Given the description of an element on the screen output the (x, y) to click on. 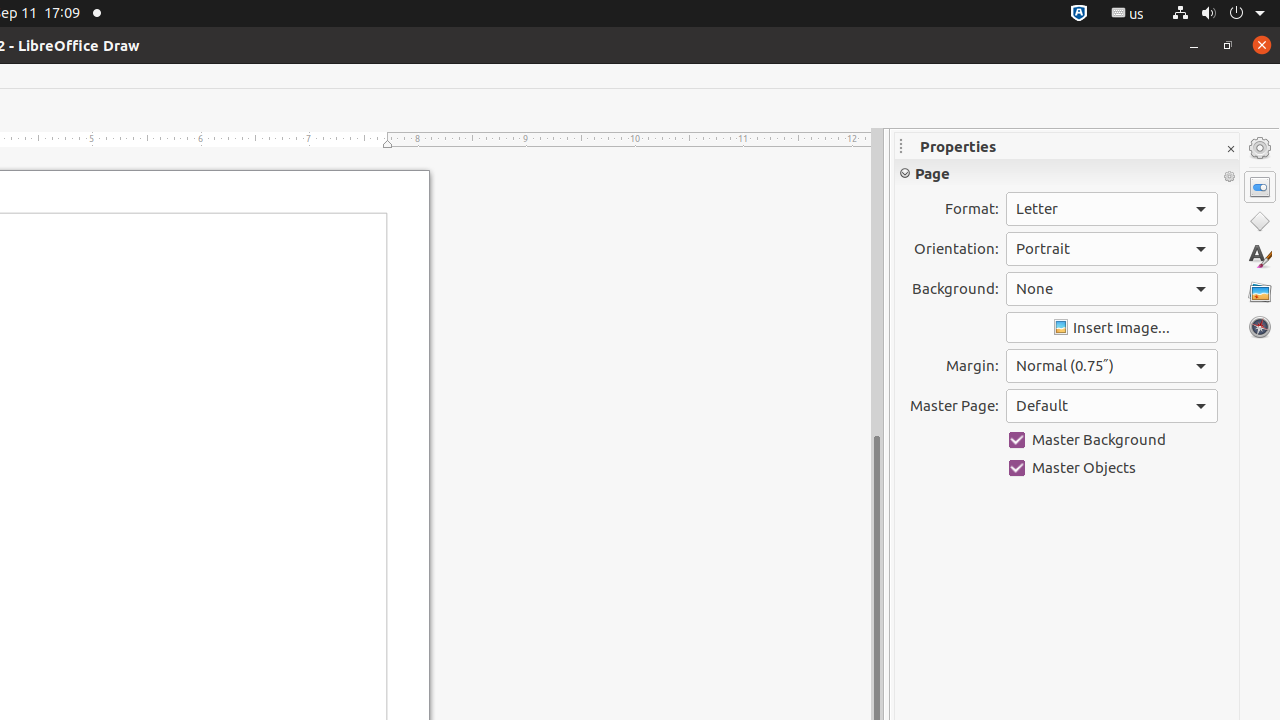
Format: Element type: combo-box (1112, 209)
Gallery Element type: radio-button (1260, 292)
Navigator Element type: radio-button (1260, 327)
Master Objects Element type: check-box (1112, 468)
:1.21/StatusNotifierItem Element type: menu (1127, 13)
